Given the description of an element on the screen output the (x, y) to click on. 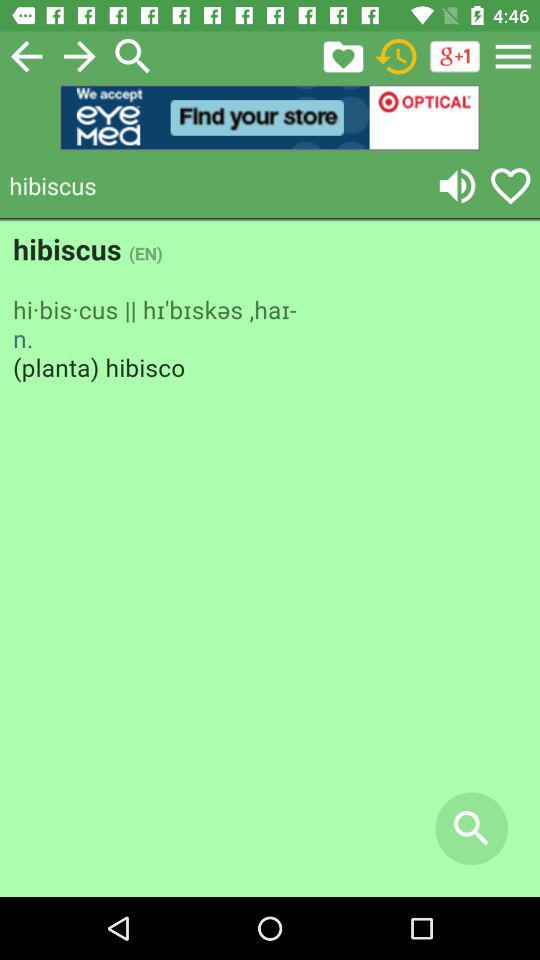
like buttton (510, 185)
